Given the description of an element on the screen output the (x, y) to click on. 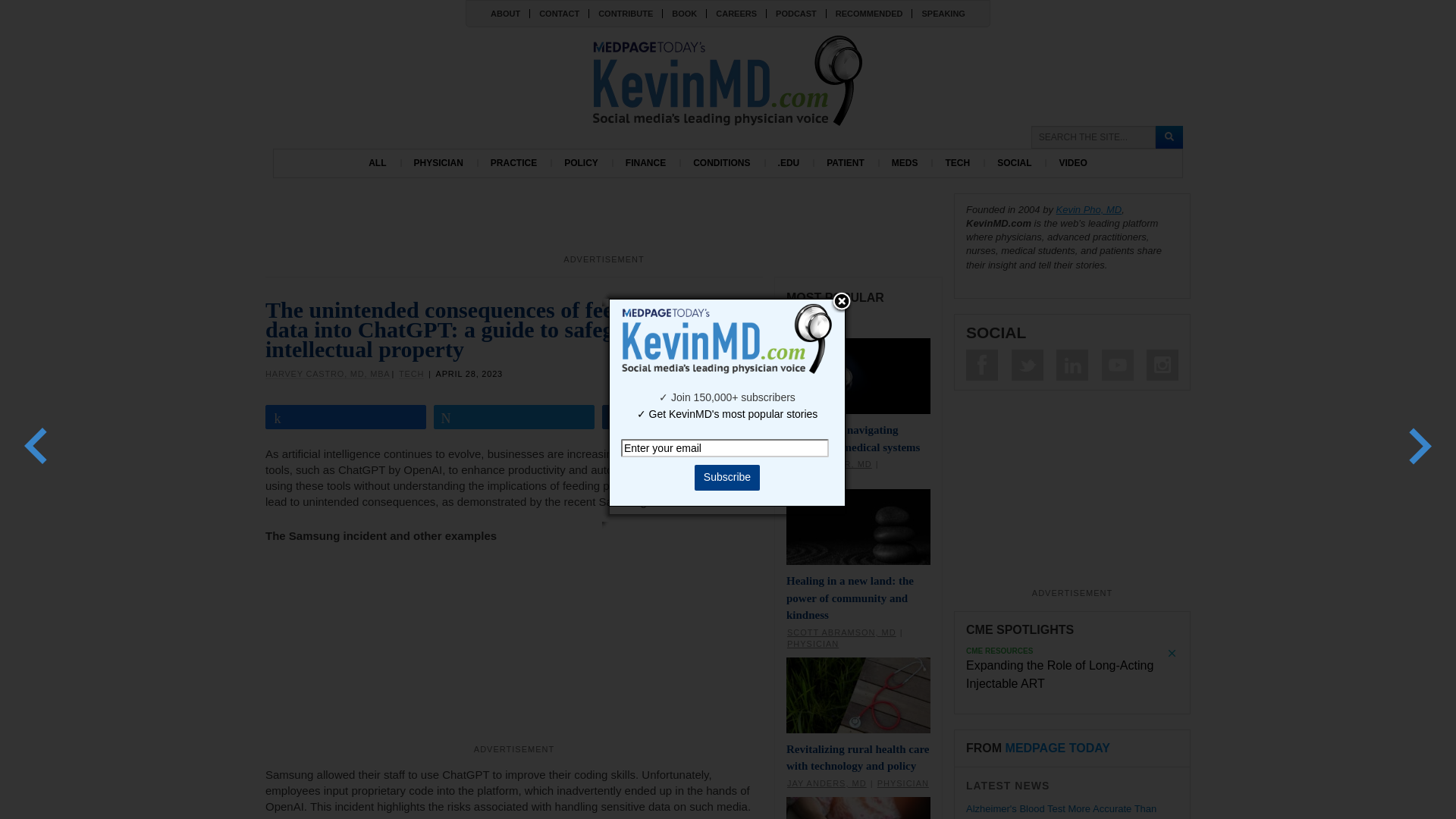
PATIENT (844, 163)
Enter your email (724, 447)
CAREERS (735, 13)
CONTRIBUTE (625, 13)
PODCAST (795, 13)
SPEAKING (942, 13)
MEDS (904, 163)
3rd party ad content (603, 227)
.EDU (788, 163)
PHYSICIAN (438, 163)
Subscribe (727, 477)
ALL (376, 163)
PRACTICE (513, 163)
FINANCE (645, 163)
SOCIAL (1014, 163)
